Given the description of an element on the screen output the (x, y) to click on. 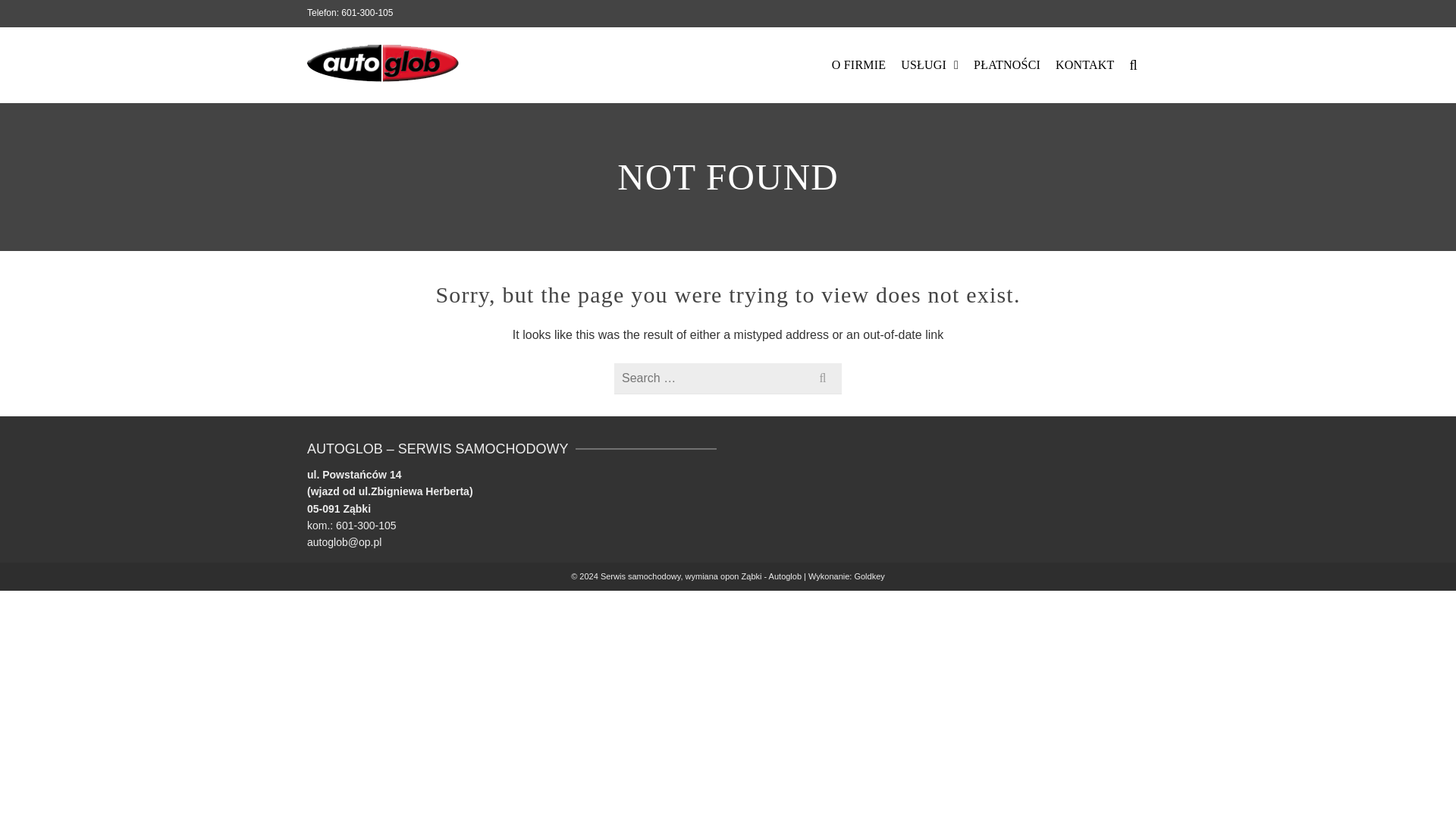
Telefon: 601-300-105 (350, 12)
O FIRMIE (858, 64)
KONTAKT (1084, 64)
